Given the description of an element on the screen output the (x, y) to click on. 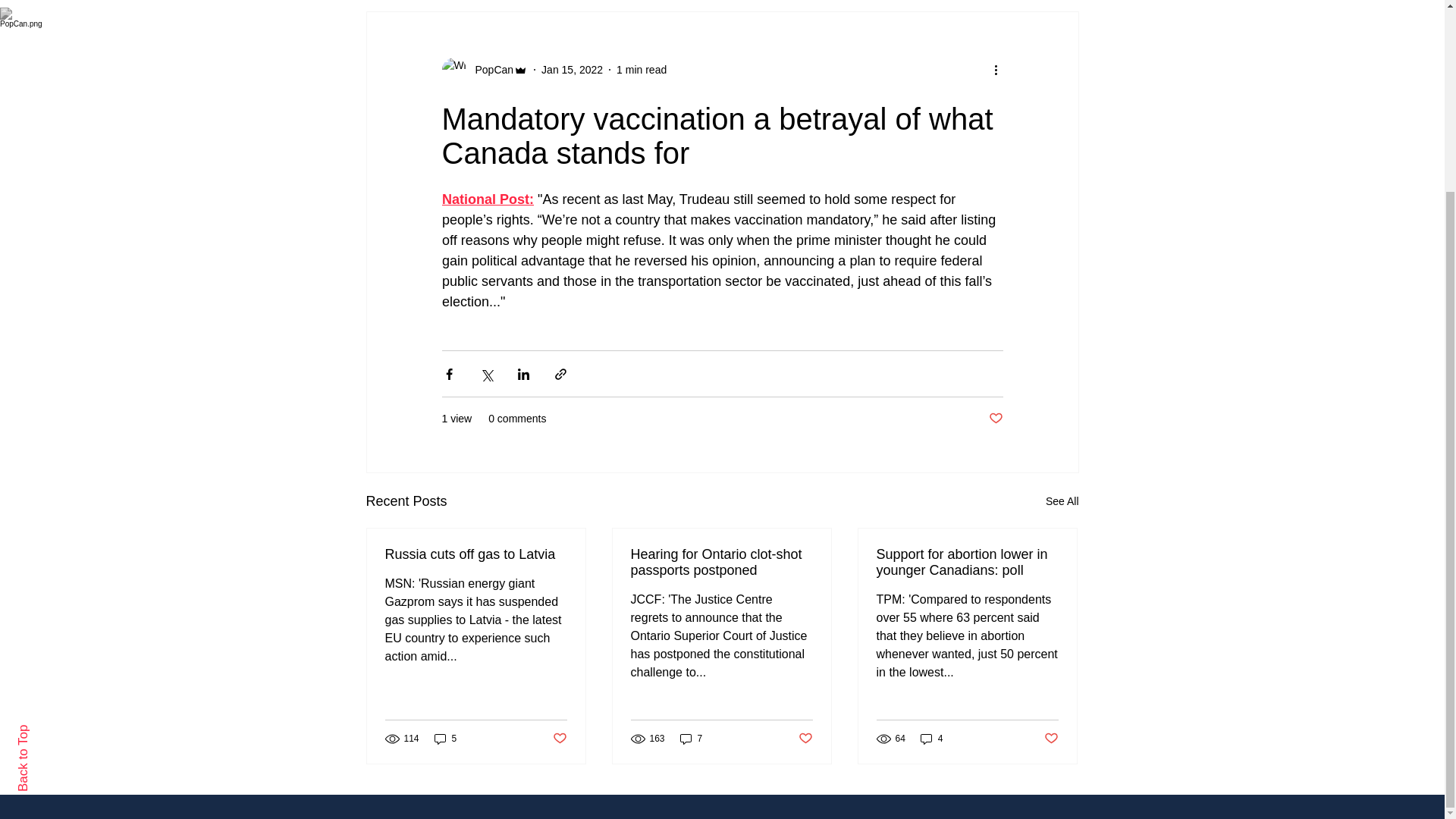
Hearing for Ontario clot-shot passports postponed (721, 562)
Jan 15, 2022 (571, 69)
National Post: (486, 199)
See All (1061, 501)
Post not marked as liked (1050, 738)
Support for abortion lower in younger Canadians: poll (967, 562)
Post not marked as liked (804, 738)
1 min read (640, 69)
Back to Top (49, 491)
Post not marked as liked (995, 418)
